Given the description of an element on the screen output the (x, y) to click on. 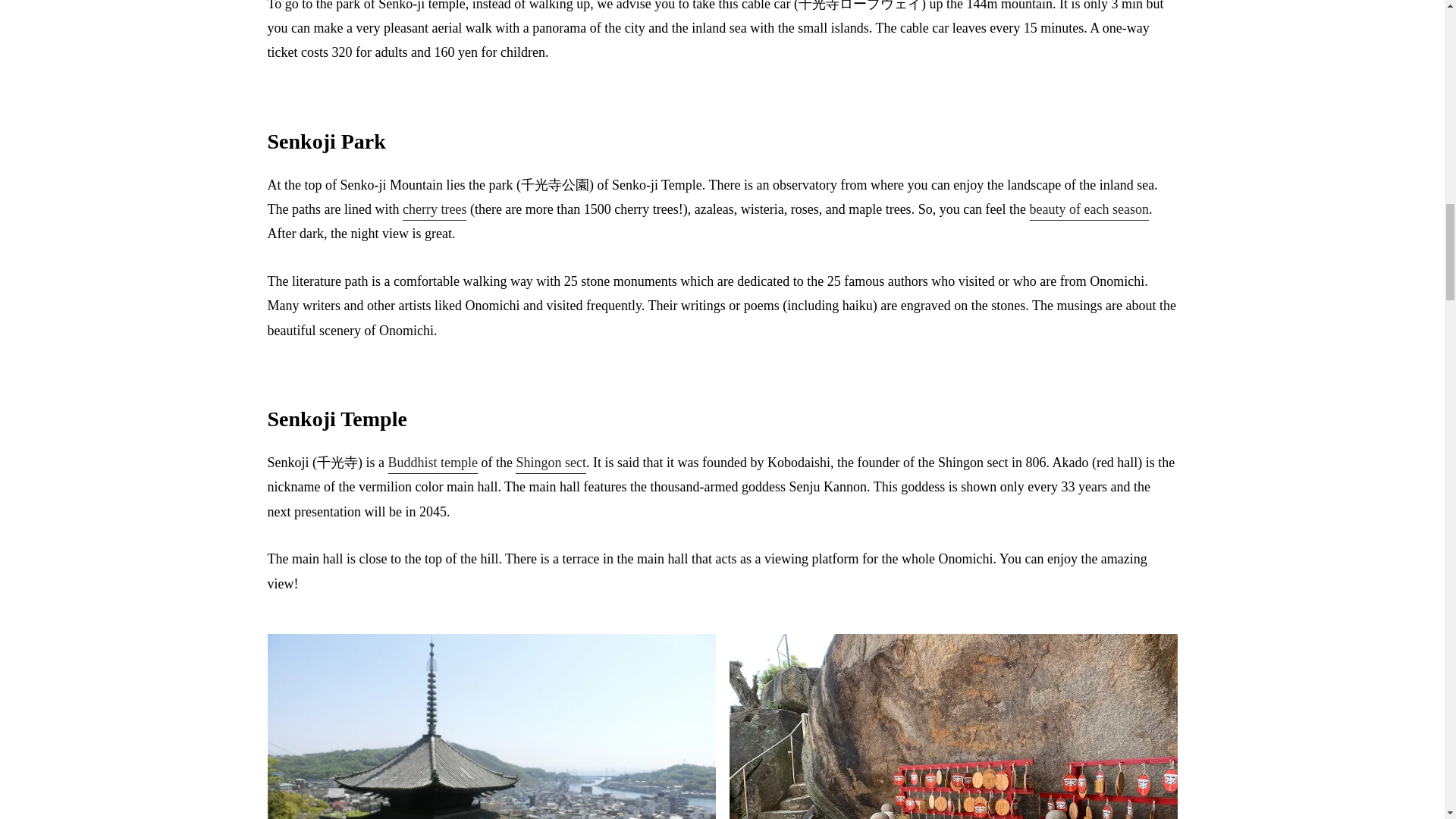
Buddhist temple (433, 464)
cherry trees (434, 210)
beauty of each season (1088, 210)
Shingon sect (550, 464)
